Given the description of an element on the screen output the (x, y) to click on. 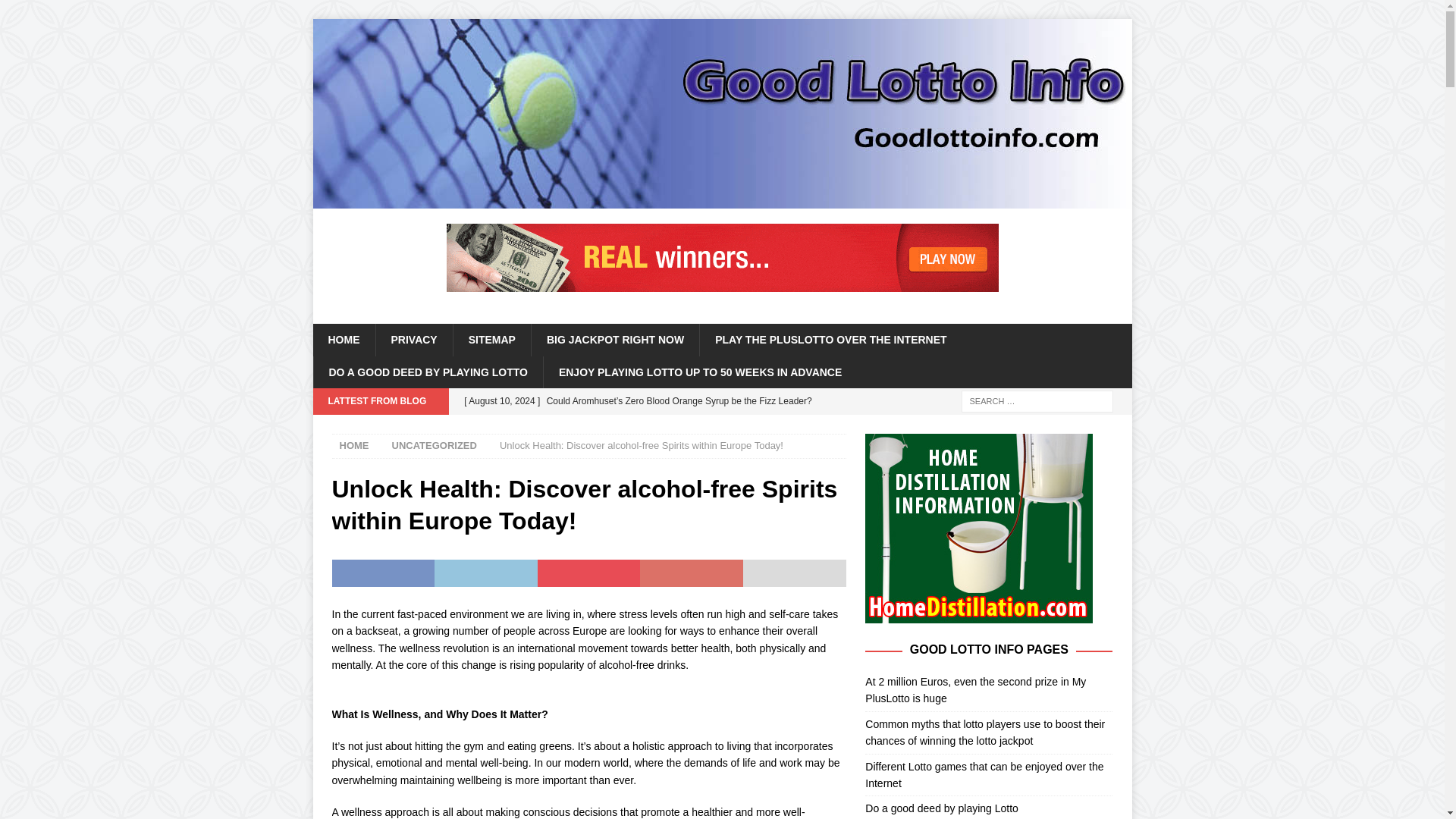
HOME (343, 339)
ENJOY PLAYING LOTTO UP TO 50 WEEKS IN ADVANCE (700, 372)
UNCATEGORIZED (433, 445)
DO A GOOD DEED BY PLAYING LOTTO (427, 372)
Search (56, 11)
Goodlottoinfo (722, 200)
HOME (354, 445)
BIG JACKPOT RIGHT NOW (614, 339)
PRIVACY (412, 339)
SITEMAP (491, 339)
